Given the description of an element on the screen output the (x, y) to click on. 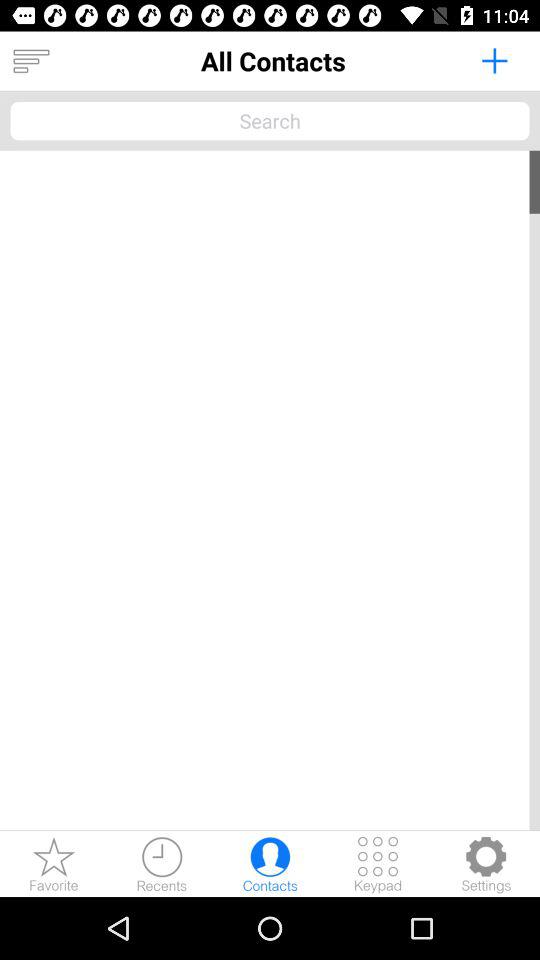
search bar (270, 120)
